Given the description of an element on the screen output the (x, y) to click on. 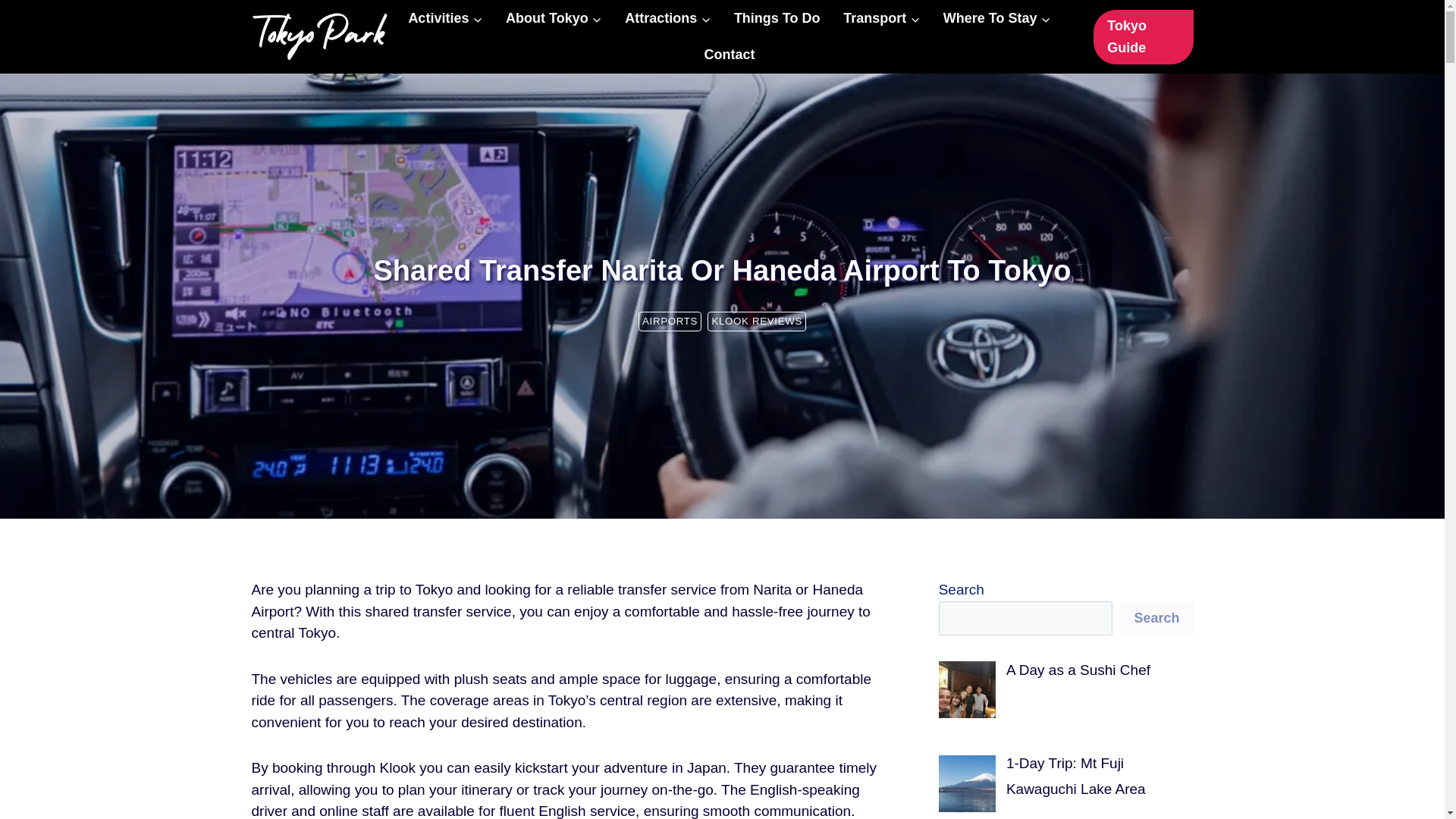
Activities (445, 18)
Transport (881, 18)
Attractions (667, 18)
Things To Do (776, 18)
About Tokyo (553, 18)
